Given the description of an element on the screen output the (x, y) to click on. 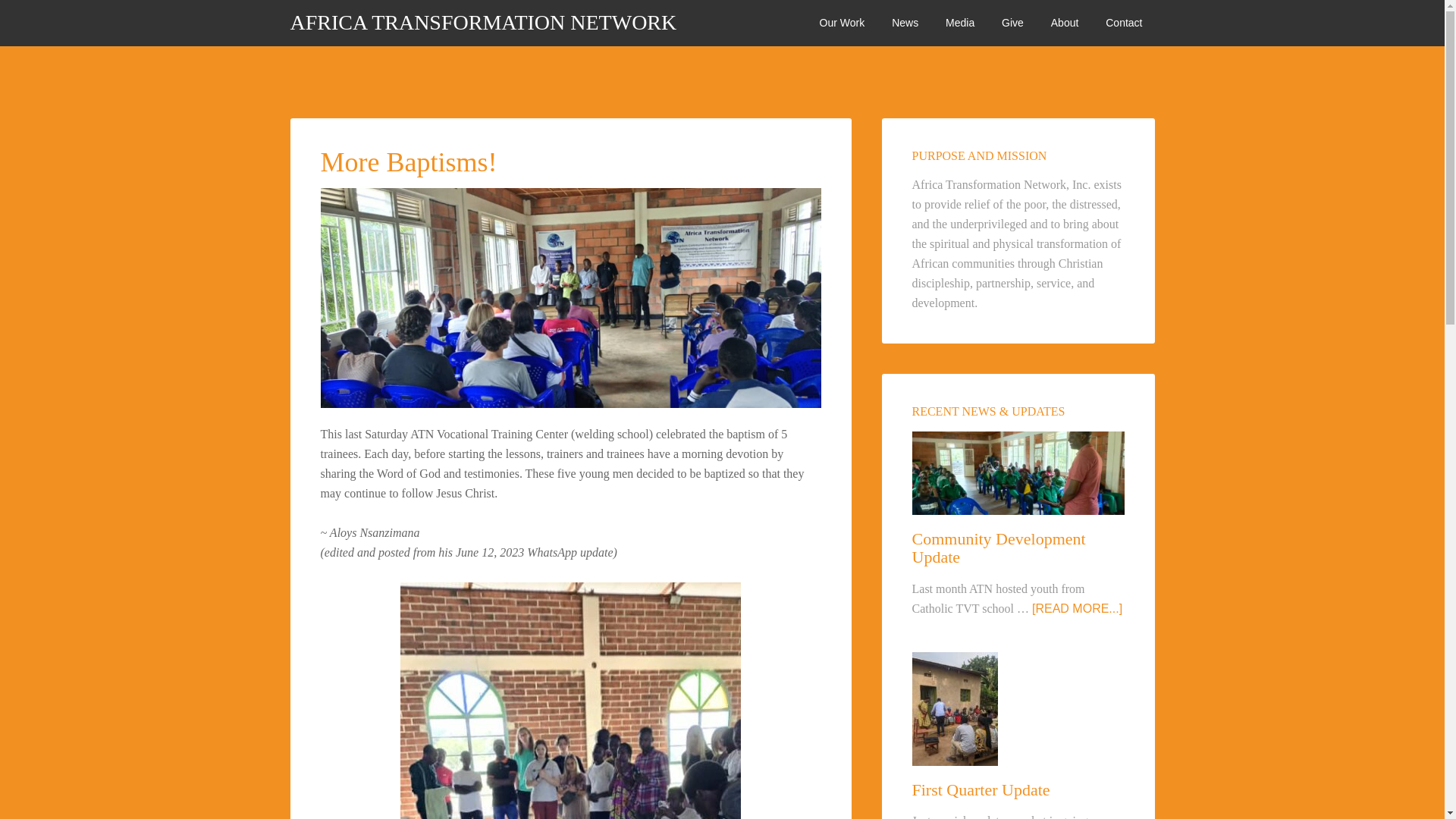
About (1064, 22)
AFRICA TRANSFORMATION NETWORK (483, 22)
Our Work (842, 22)
Media (960, 22)
News (904, 22)
Contact (1123, 22)
First Quarter Update (980, 789)
Community Development Update (997, 547)
Give (1012, 22)
